Given the description of an element on the screen output the (x, y) to click on. 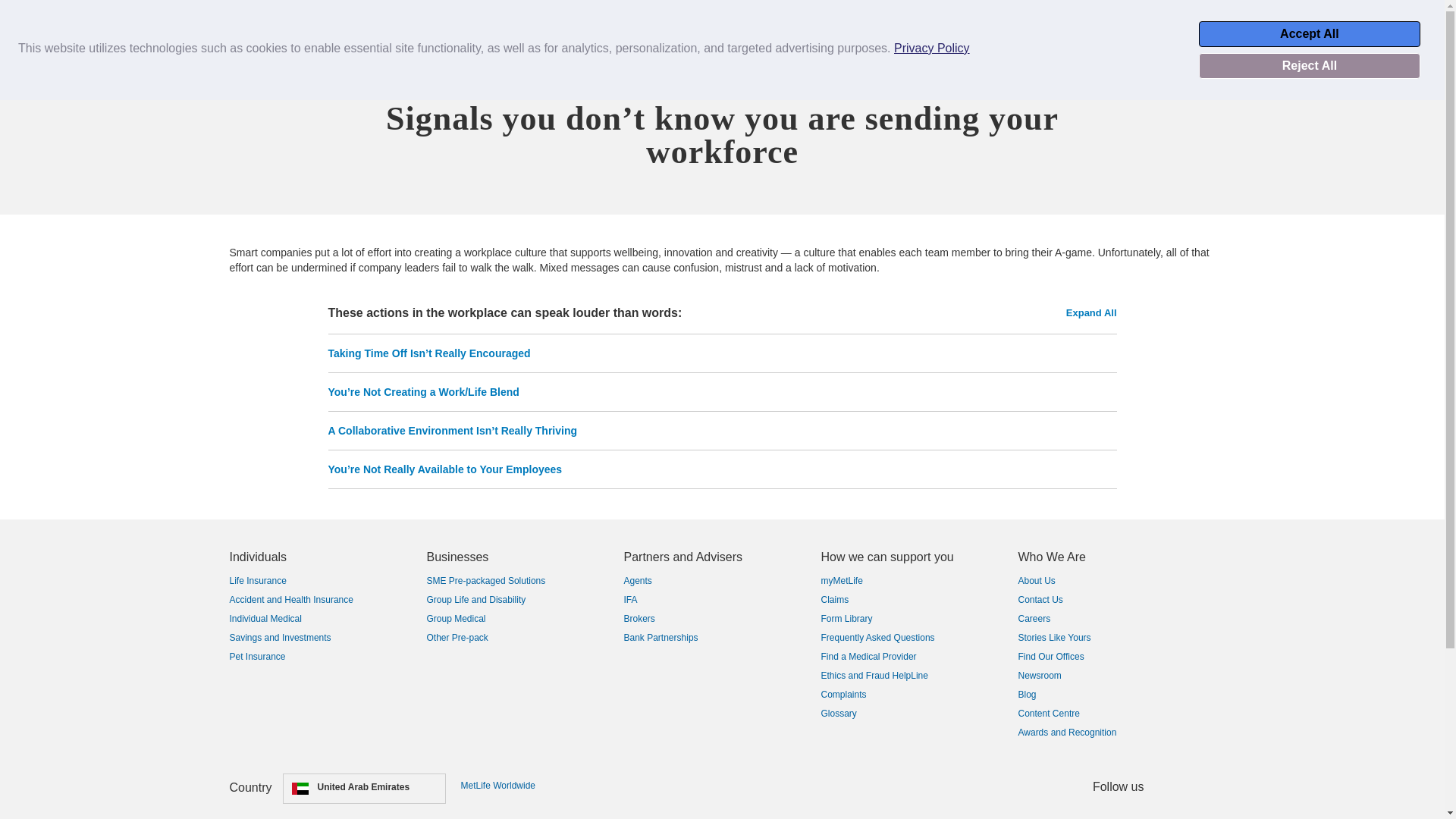
ENGLISH (1222, 26)
CONTACT US (1385, 26)
Reject All (1309, 65)
Accept All (1309, 33)
Contact Us (1385, 26)
LOG IN (1299, 26)
SEARCH SEARCH (181, 20)
Privacy Policy (931, 48)
SEARCH (181, 26)
LOG IN (1299, 26)
